Given the description of an element on the screen output the (x, y) to click on. 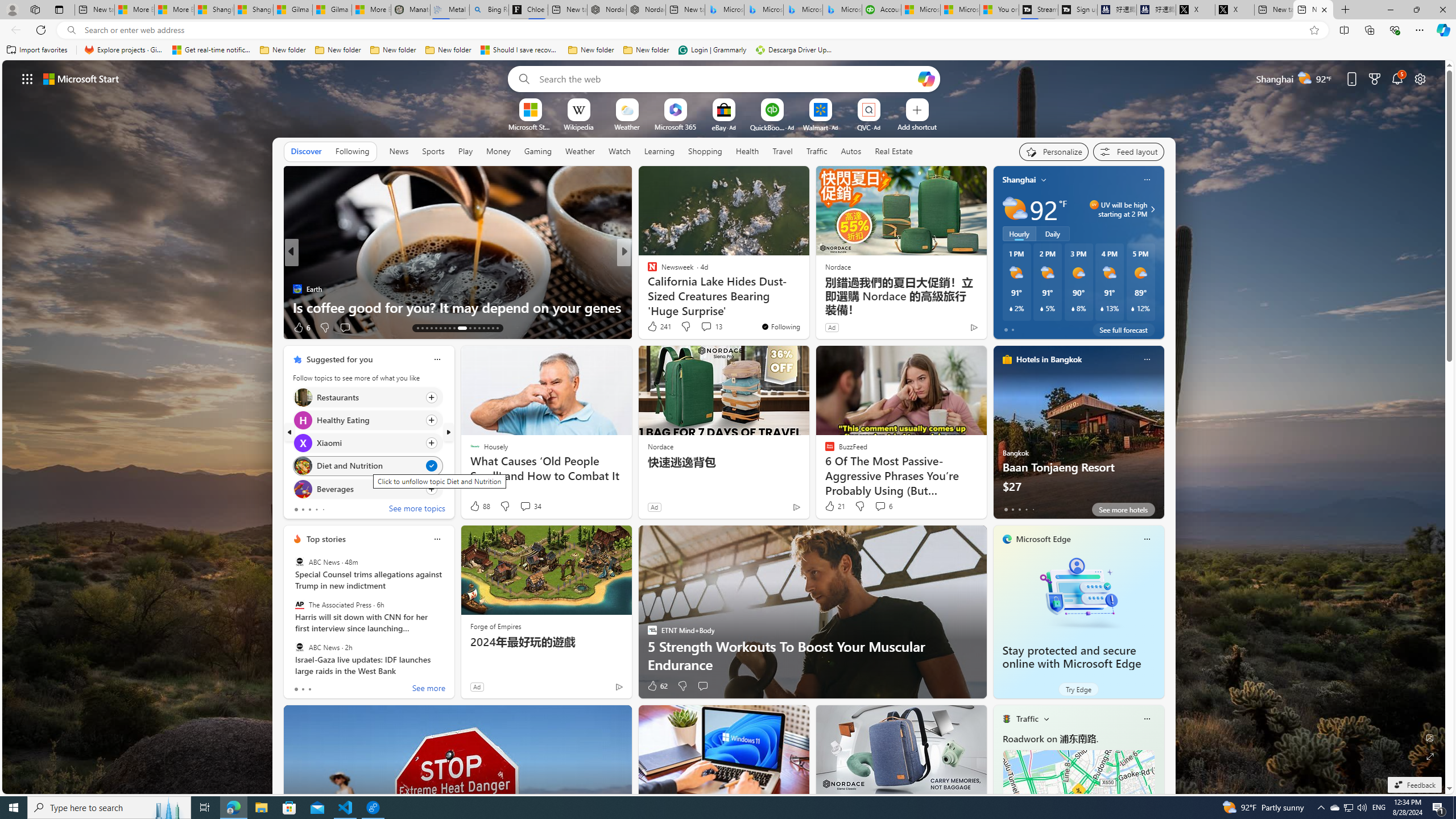
Baan Tonjaeng Resort (1078, 436)
AutomationID: tab-27 (488, 328)
tab-2 (309, 689)
Feedback (1414, 784)
16 Phrases That Can Make You Sound Less Smart (807, 307)
AutomationID: tab-23 (468, 328)
Following (352, 151)
Stay protected and secure online with Microsoft Edge (1077, 592)
View comments 6 Comment (882, 505)
tab-1 (302, 689)
Manatee Mortality Statistics | FWC (410, 9)
